Given the description of an element on the screen output the (x, y) to click on. 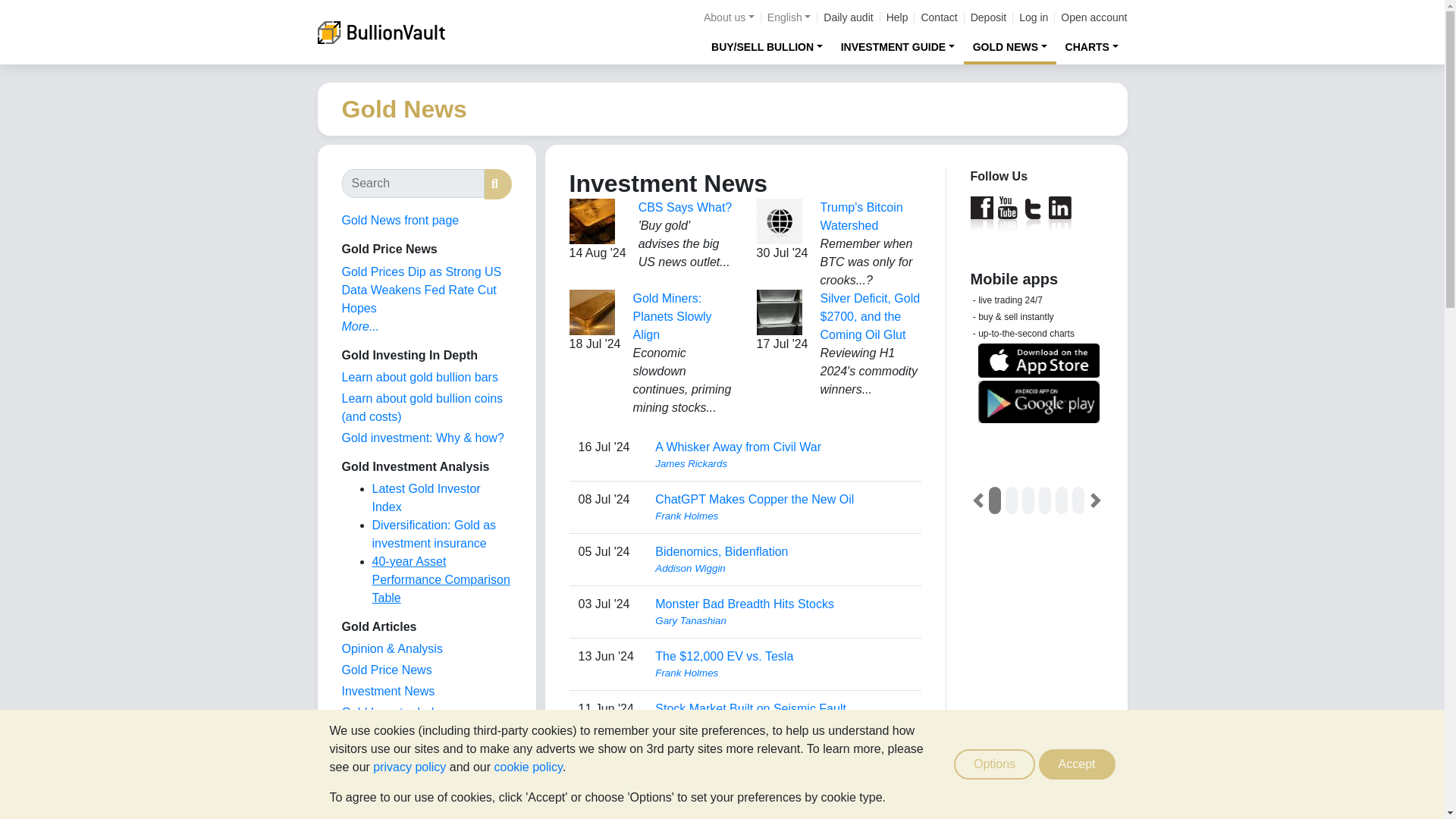
Open account (1093, 17)
View user profile. (783, 777)
View user profile. (783, 516)
Accept (1077, 764)
View user profile. (783, 725)
Options (994, 764)
Investment News (386, 690)
Books about Gold Reviewed (372, 797)
Gold Infographics (387, 733)
English (788, 17)
